Given the description of an element on the screen output the (x, y) to click on. 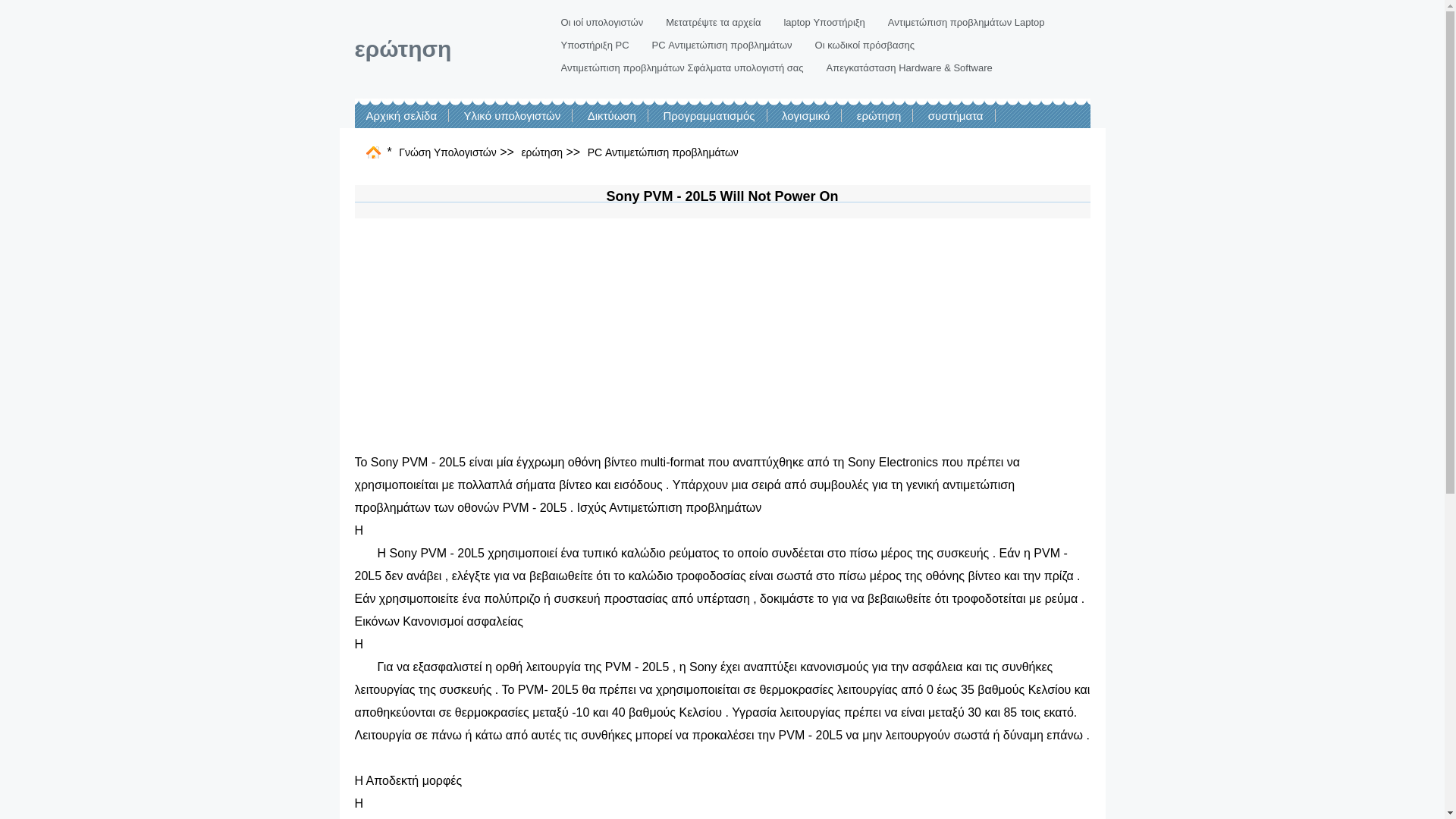
Advertisement Element type: hover (722, 337)
